Given the description of an element on the screen output the (x, y) to click on. 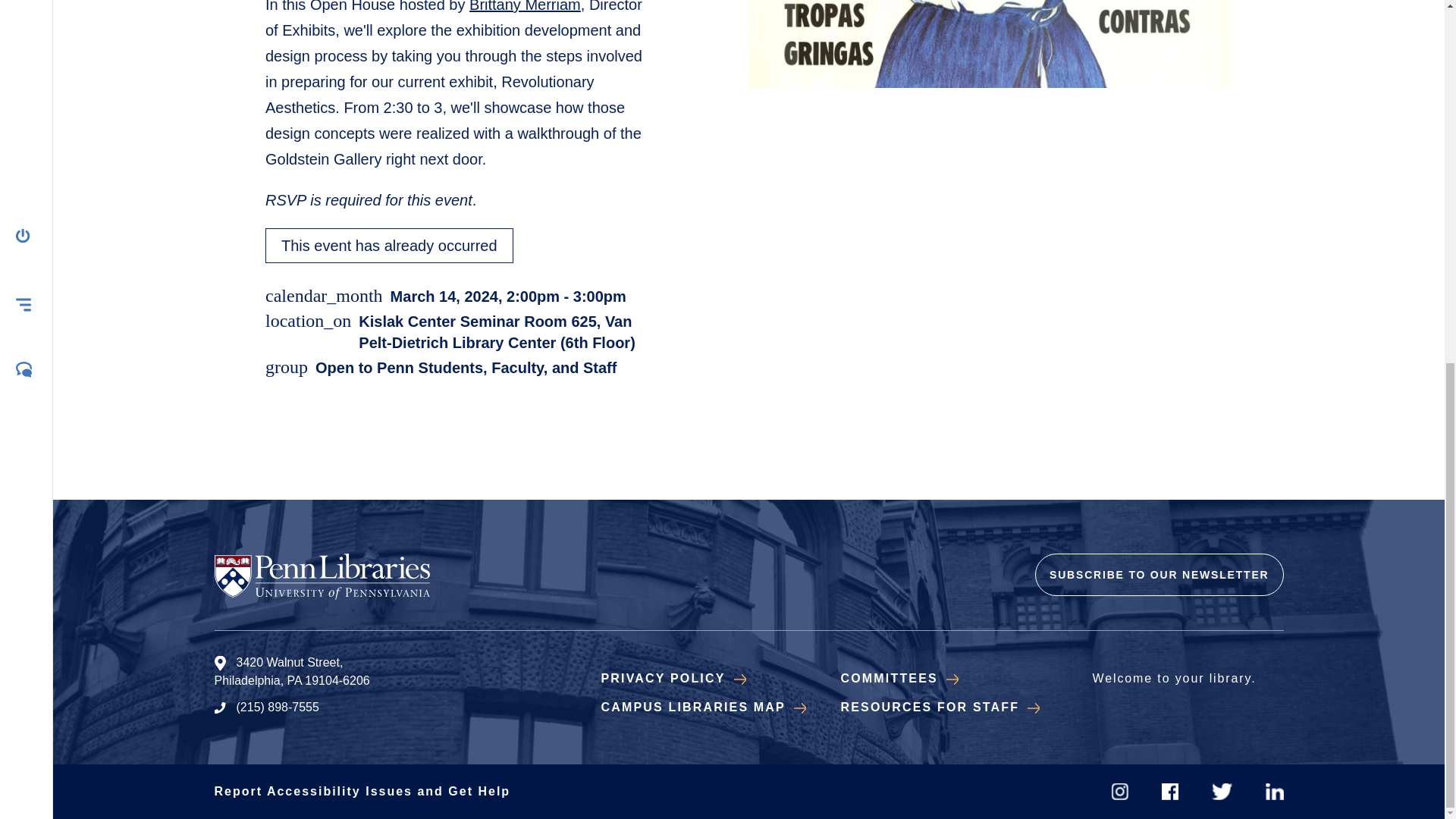
Link to Campus libraries map (702, 707)
Link to Privacy Policy (672, 677)
Link to Resources for Staff (939, 707)
Link to Report Accessibility Issues and Get Help (362, 790)
Link to Committees (899, 677)
